Given the description of an element on the screen output the (x, y) to click on. 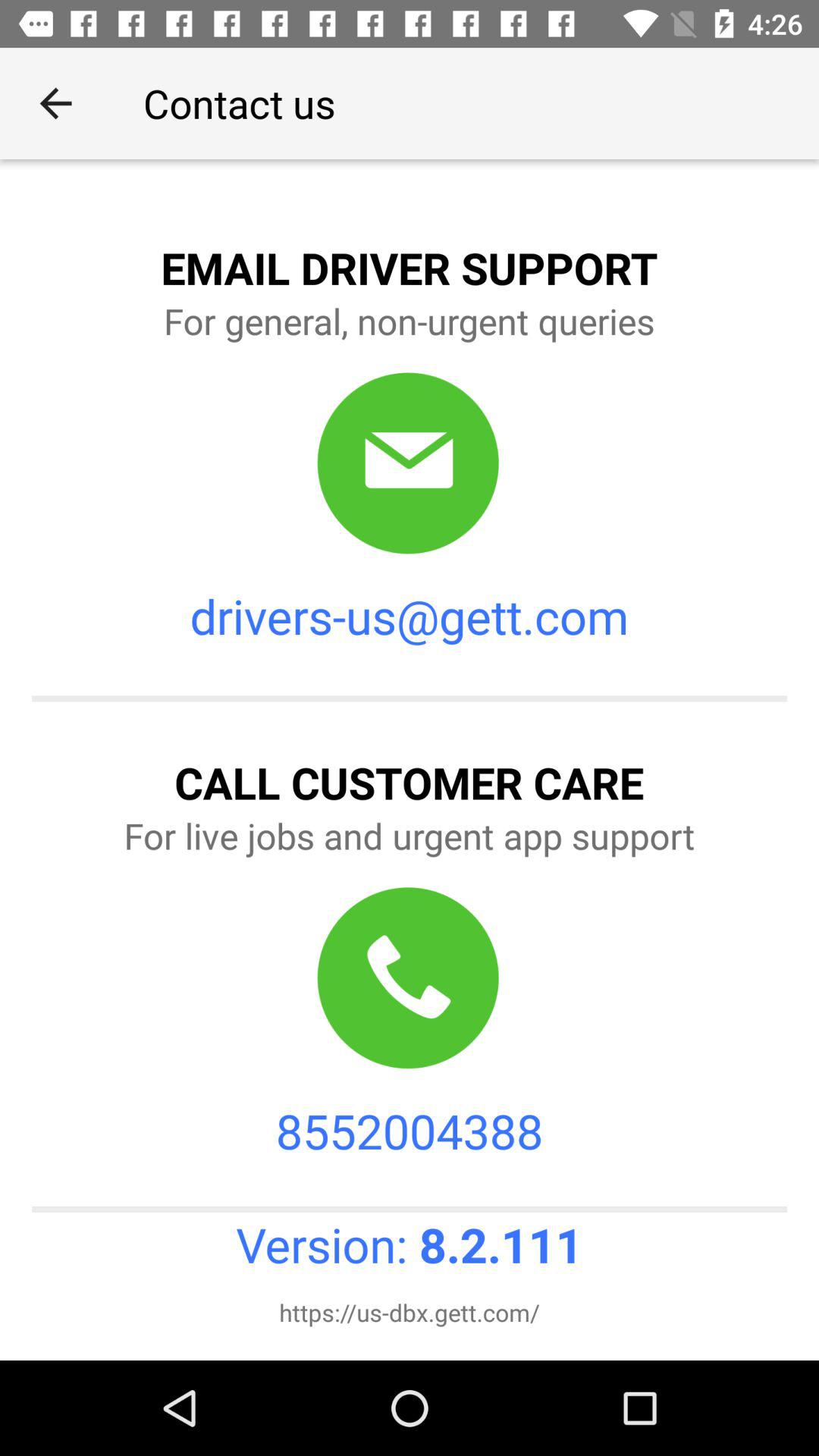
flip to 8552004388 icon (409, 1130)
